Given the description of an element on the screen output the (x, y) to click on. 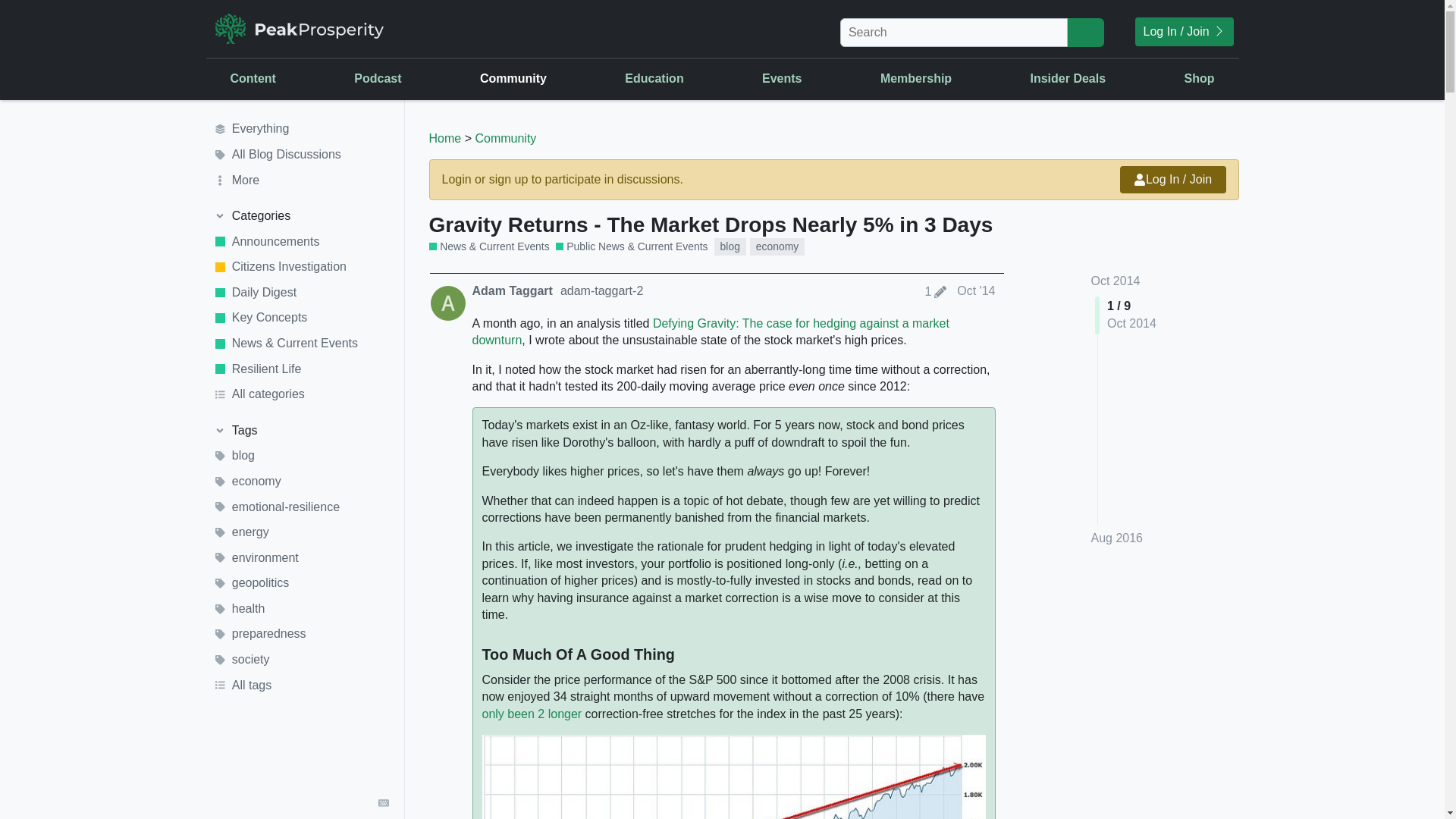
Categories (301, 215)
Community (513, 78)
energy (301, 533)
blog (729, 246)
Forum (638, 178)
economy (301, 481)
environment (301, 557)
geopolitics (301, 583)
All tags (301, 685)
Content (253, 78)
Citizens Investigation (301, 267)
Community (504, 137)
blog (301, 456)
Daily Digest (301, 292)
health (301, 608)
